Given the description of an element on the screen output the (x, y) to click on. 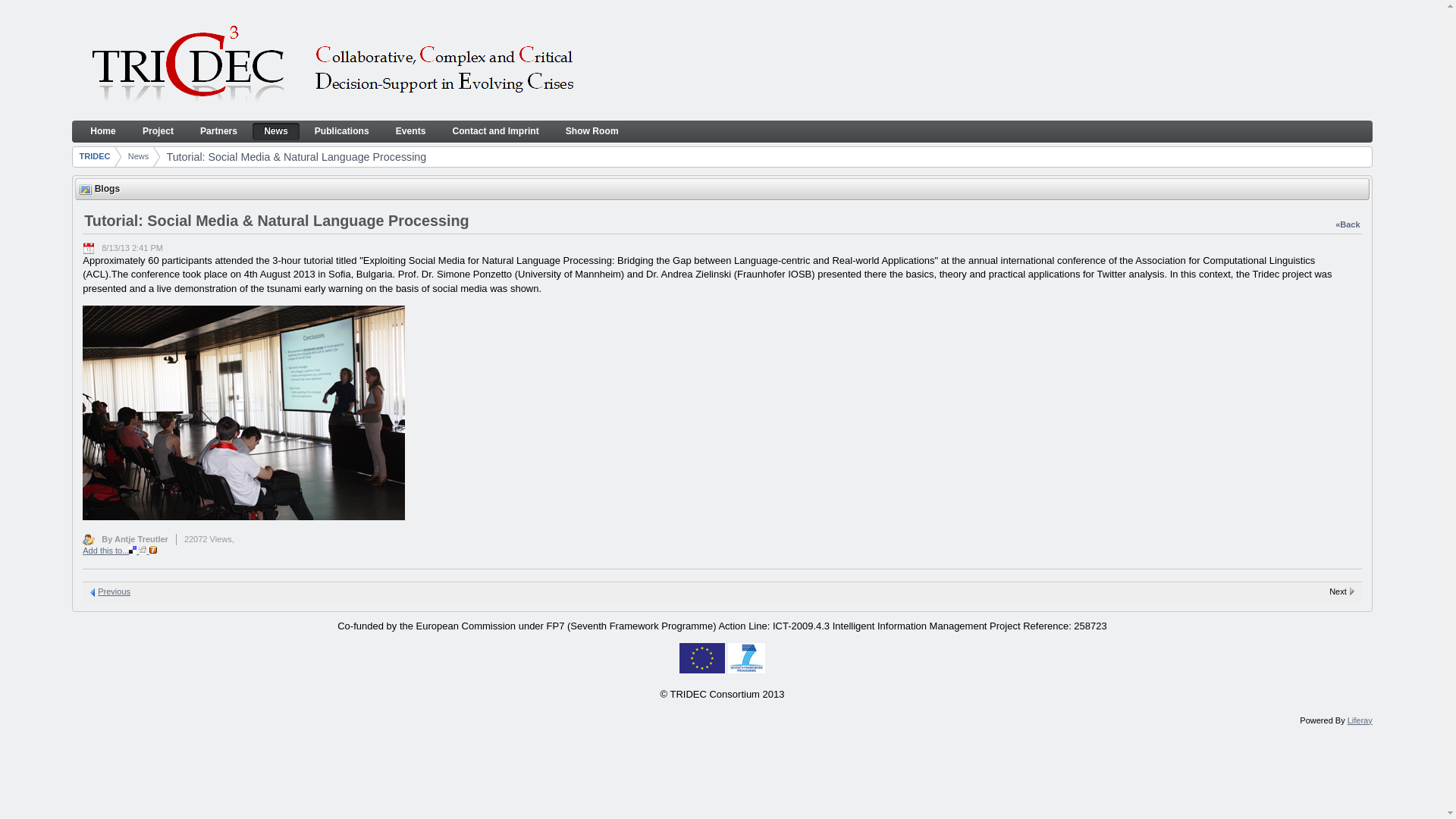
TRIDEC (96, 142)
Go to TRIDEC (96, 142)
Project (157, 131)
TRIDEC (331, 65)
Contact and Imprint (495, 131)
Blogs (85, 189)
Publications (341, 131)
Events (411, 131)
Click to enlarge! (243, 516)
News (275, 131)
